Given the description of an element on the screen output the (x, y) to click on. 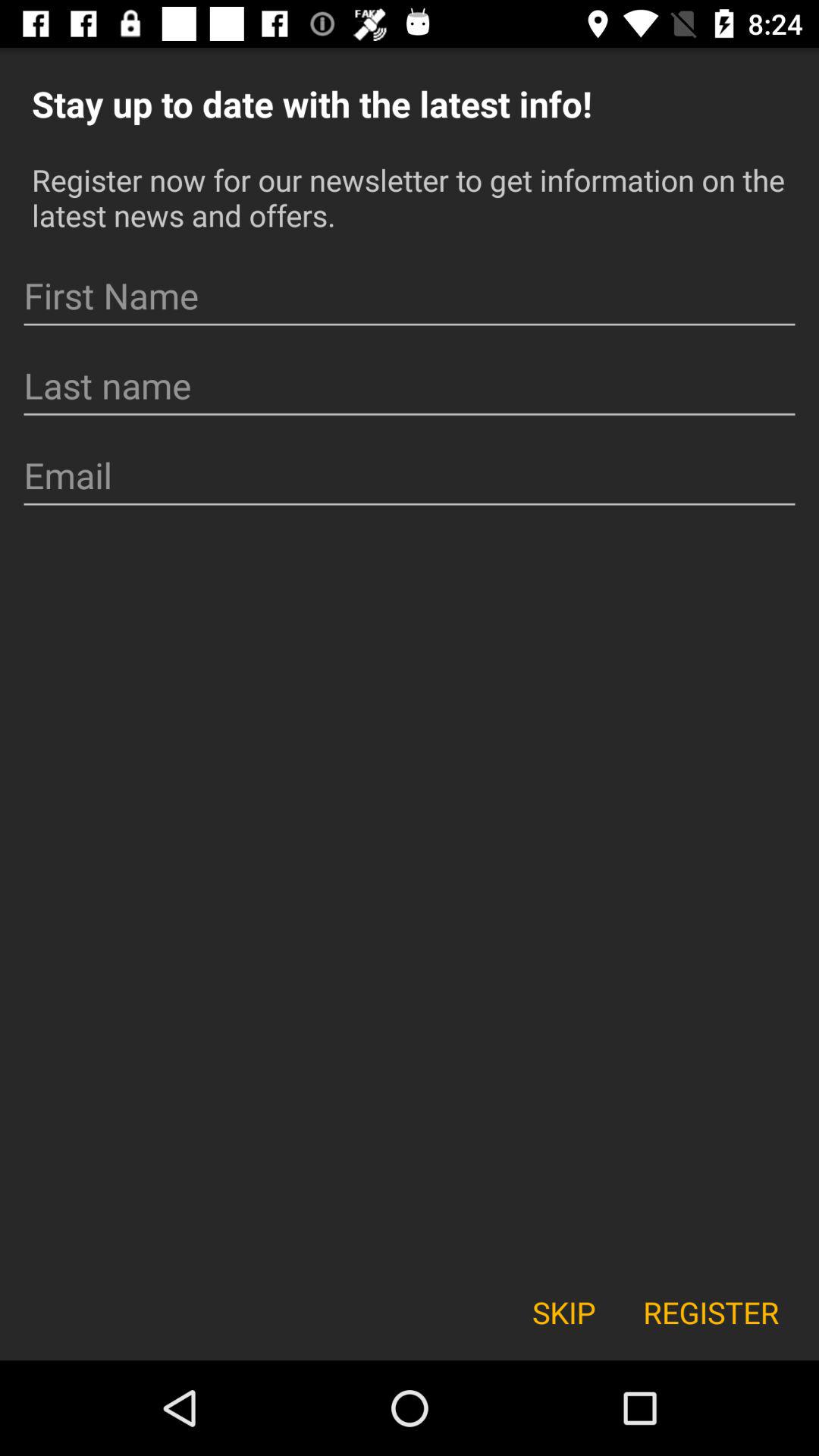
email field (409, 475)
